Given the description of an element on the screen output the (x, y) to click on. 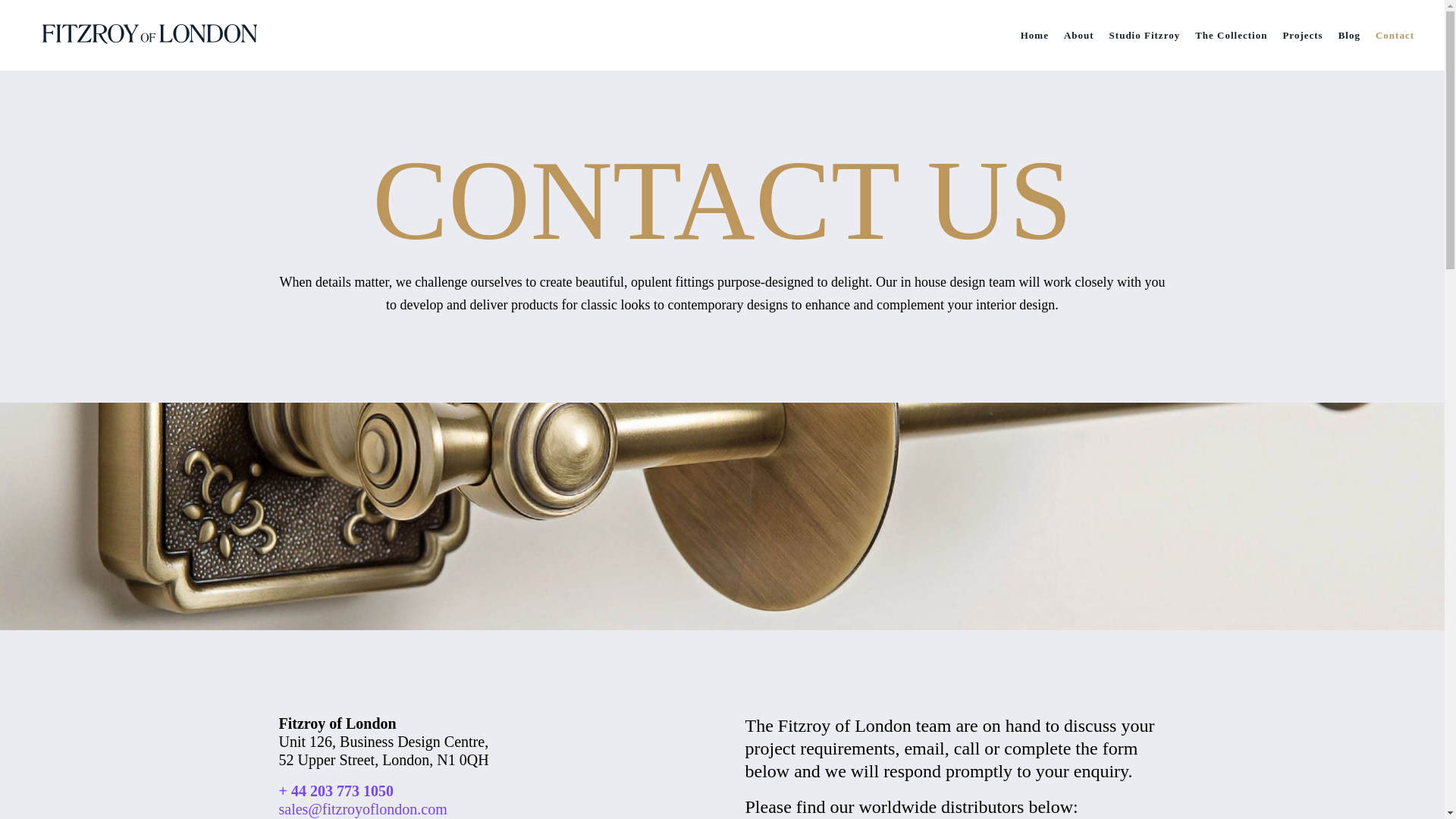
Studio Fitzroy (1145, 35)
The Collection (1231, 35)
Fitzroy of London (151, 34)
